Given the description of an element on the screen output the (x, y) to click on. 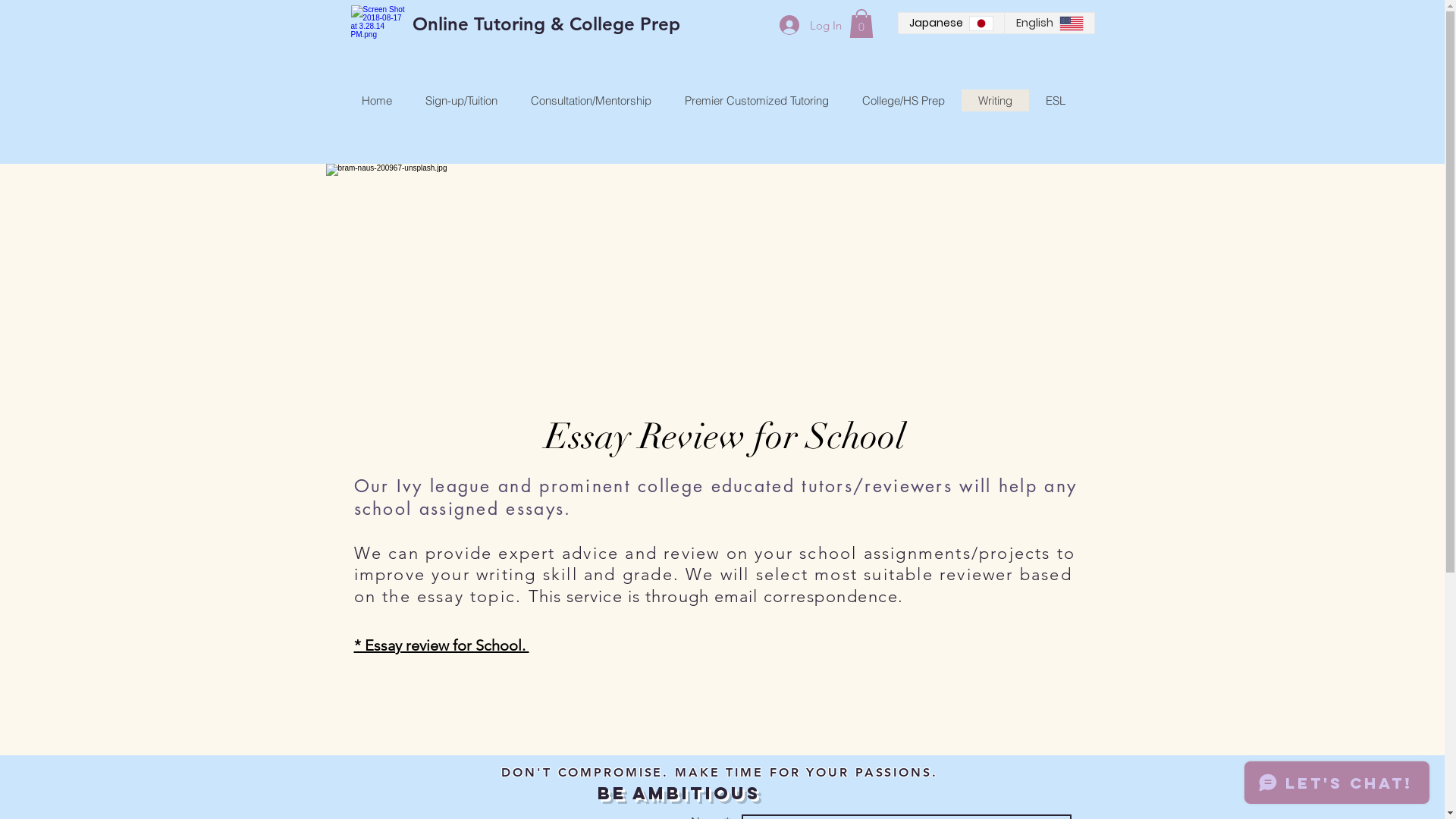
Home Element type: text (376, 100)
0 Element type: text (861, 23)
English Element type: text (1049, 22)
ESL Element type: text (1054, 100)
Writing Element type: text (995, 100)
Sign-up/Tuition Element type: text (460, 100)
* Essay review for School.  Element type: text (440, 645)
College/HS Prep Element type: text (902, 100)
Consultation/Mentorship Element type: text (591, 100)
Premier Customized Tutoring Element type: text (755, 100)
Log In Element type: text (810, 24)
Japanese Element type: text (950, 22)
